Given the description of an element on the screen output the (x, y) to click on. 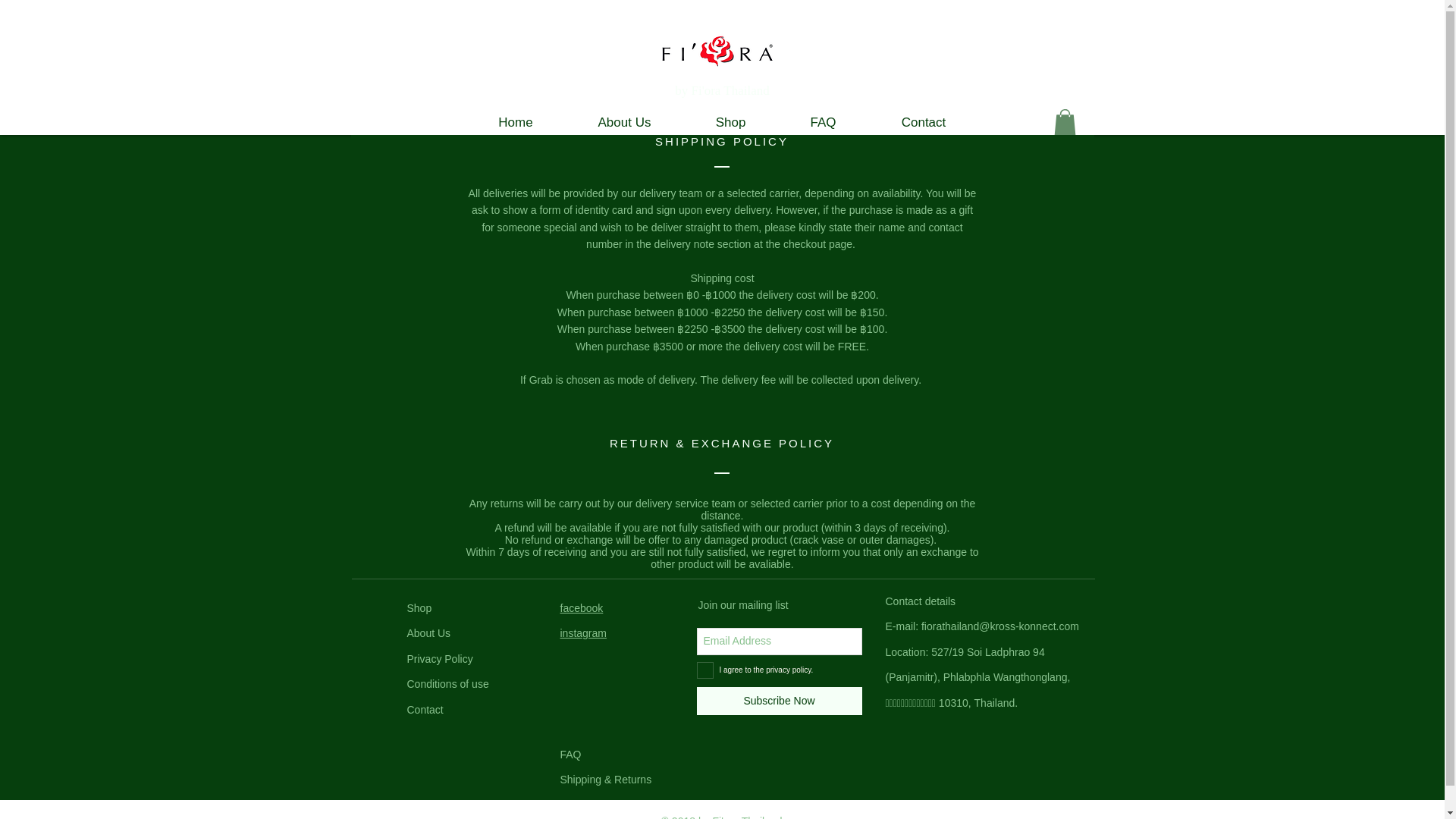
Home (514, 122)
Shop (730, 122)
facebook (580, 607)
Contact (923, 122)
About Us (427, 633)
Privacy Policy (438, 658)
FAQ (823, 122)
About Us (625, 122)
Contact (424, 709)
by Fi'ora Thailand (722, 90)
